Given the description of an element on the screen output the (x, y) to click on. 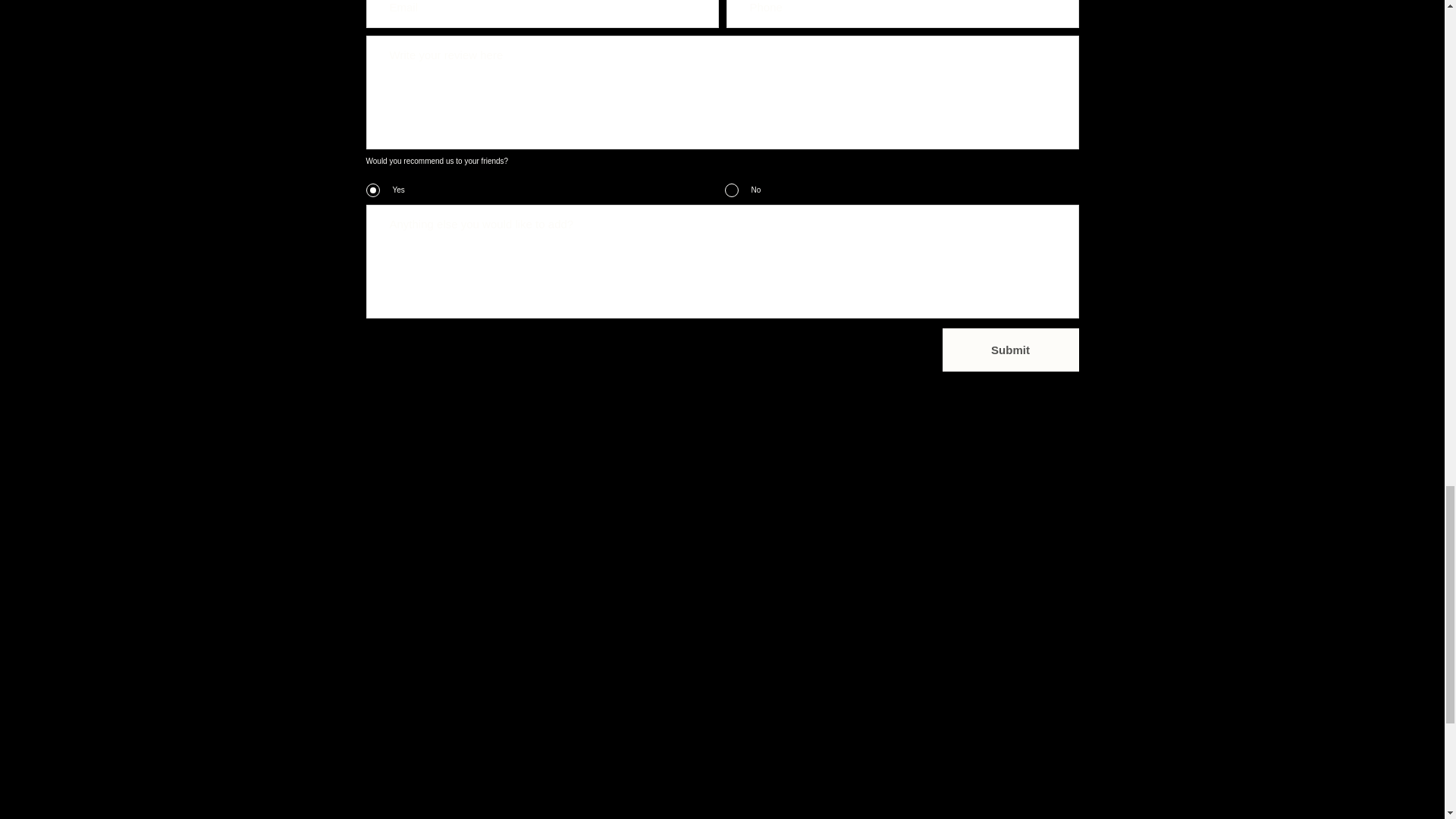
Submit (1010, 349)
